Given the description of an element on the screen output the (x, y) to click on. 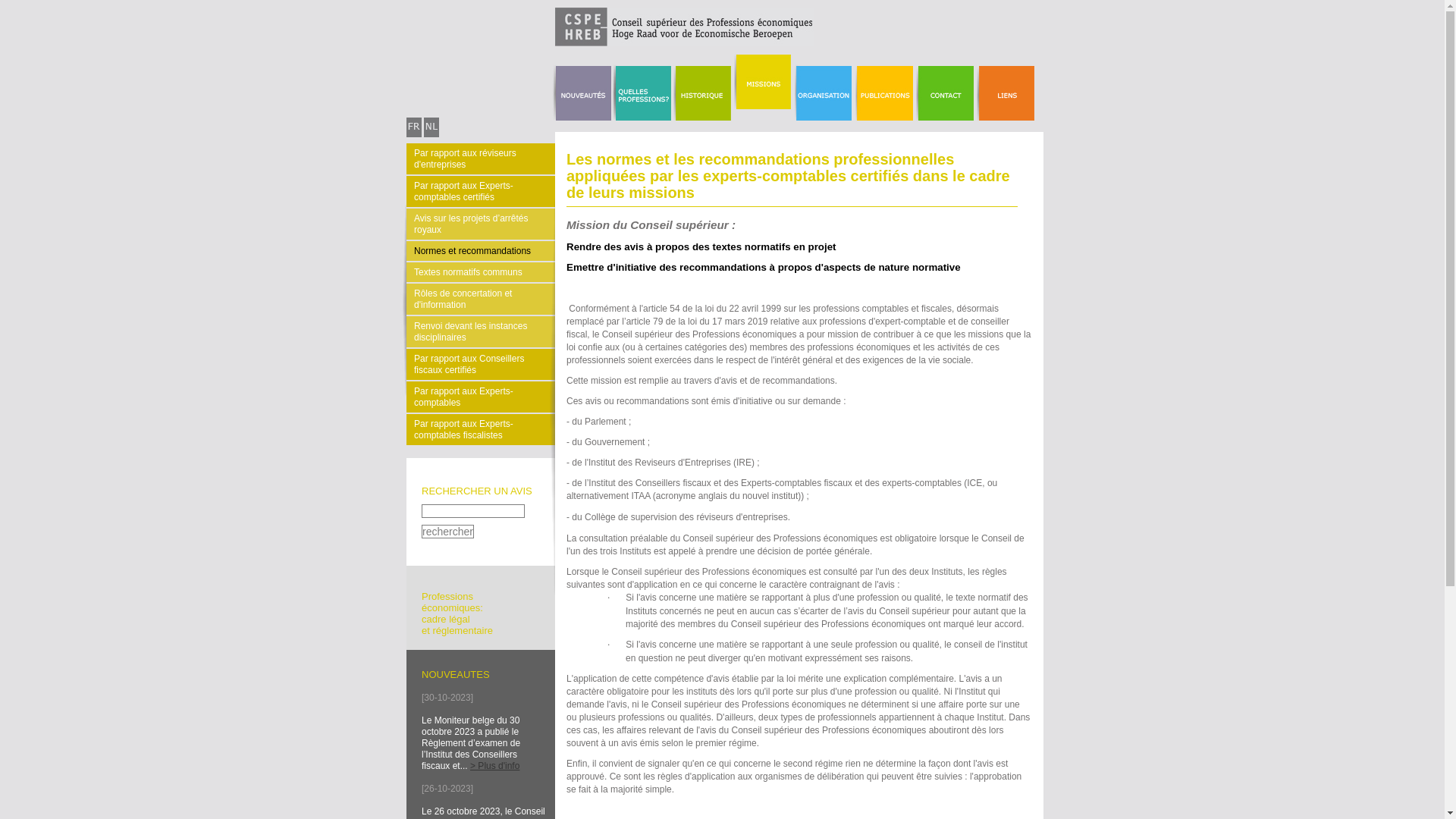
Par rapport aux Experts-comptables Element type: text (480, 396)
rechercher Element type: text (447, 531)
Renvoi devant les instances disciplinaires Element type: text (480, 331)
Accueil Element type: hover (610, 42)
Par rapport aux Experts-comptables fiscalistes Element type: text (480, 429)
Textes normatifs communs Element type: text (480, 272)
> Plus d'info Element type: text (494, 765)
Normes et recommandations Element type: text (480, 250)
